Given the description of an element on the screen output the (x, y) to click on. 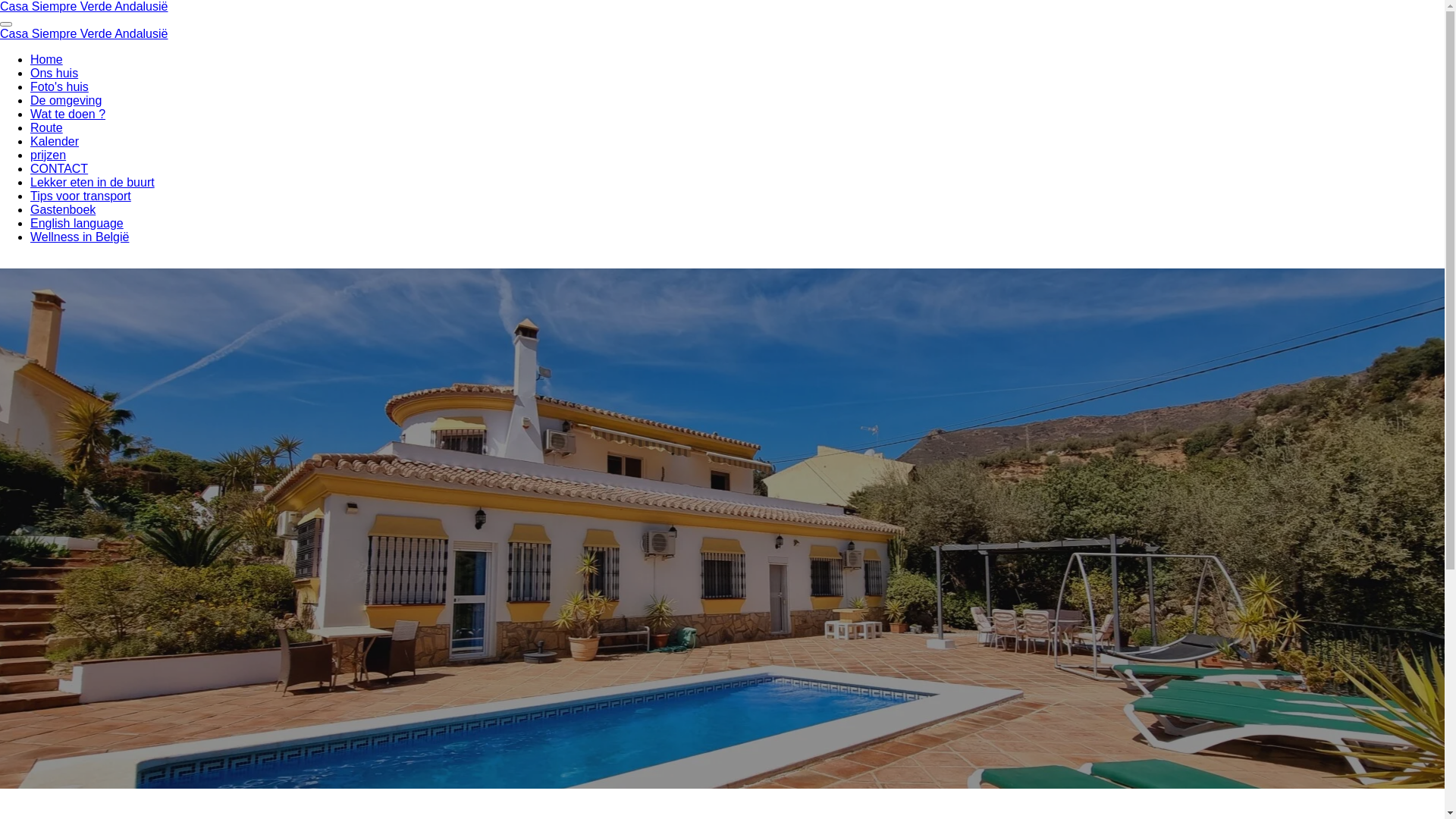
Gastenboek Element type: text (62, 209)
Foto's huis Element type: text (59, 86)
De omgeving Element type: text (65, 100)
Lekker eten in de buurt Element type: text (92, 181)
Ons huis Element type: text (54, 72)
Route Element type: text (46, 127)
prijzen Element type: text (47, 154)
CONTACT Element type: text (58, 168)
Tips voor transport Element type: text (80, 195)
Kalender Element type: text (54, 140)
Home Element type: text (46, 59)
Wat te doen ? Element type: text (67, 113)
English language Element type: text (76, 222)
